Given the description of an element on the screen output the (x, y) to click on. 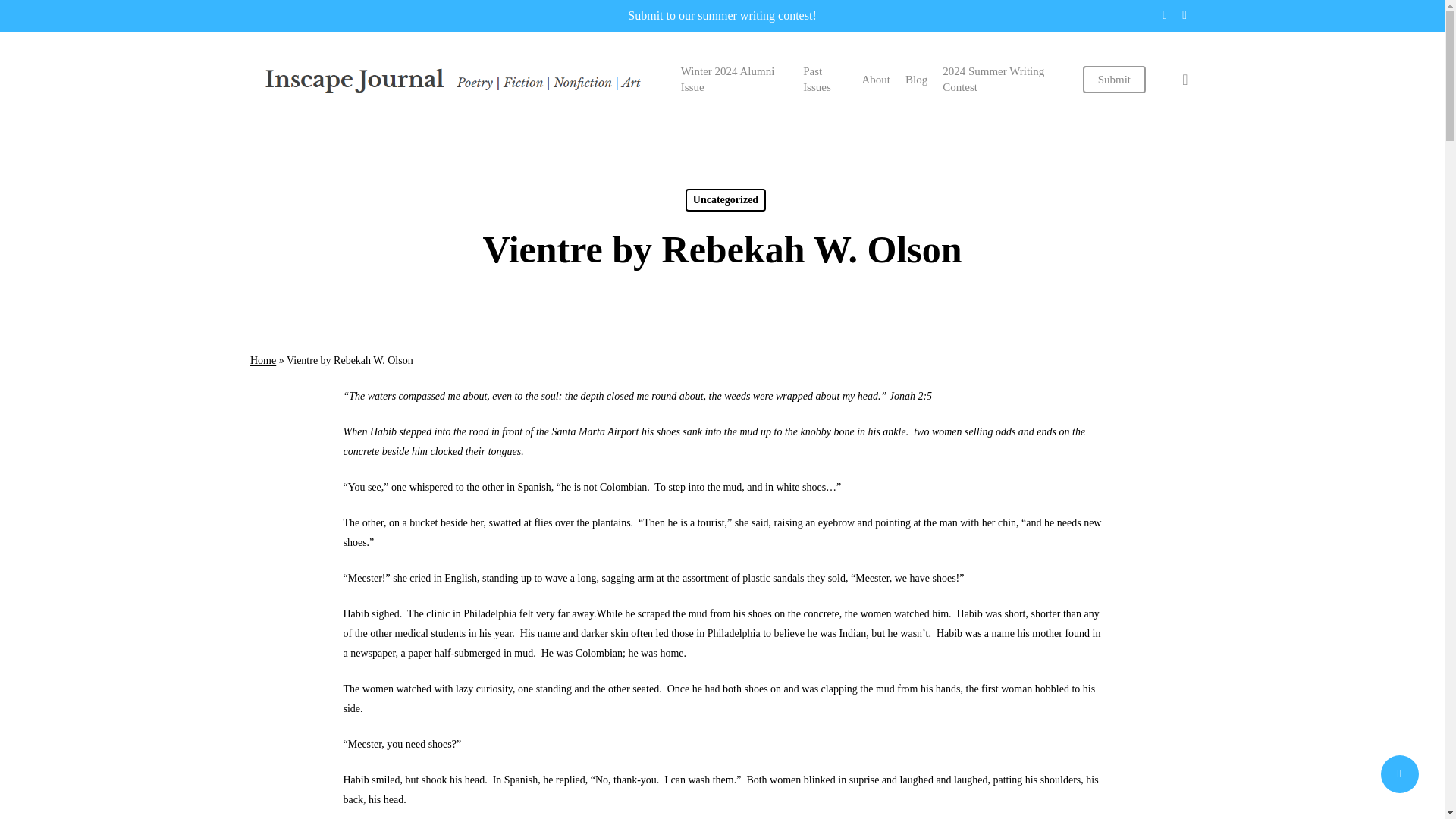
2024 Summer Writing Contest (1004, 79)
Uncategorized (725, 200)
Submit (1114, 78)
Winter 2024 Alumni Issue (734, 79)
Submit to our summer writing contest! (721, 15)
Past Issues (824, 79)
search (1184, 78)
Home (263, 360)
About (875, 78)
Blog (916, 78)
